Given the description of an element on the screen output the (x, y) to click on. 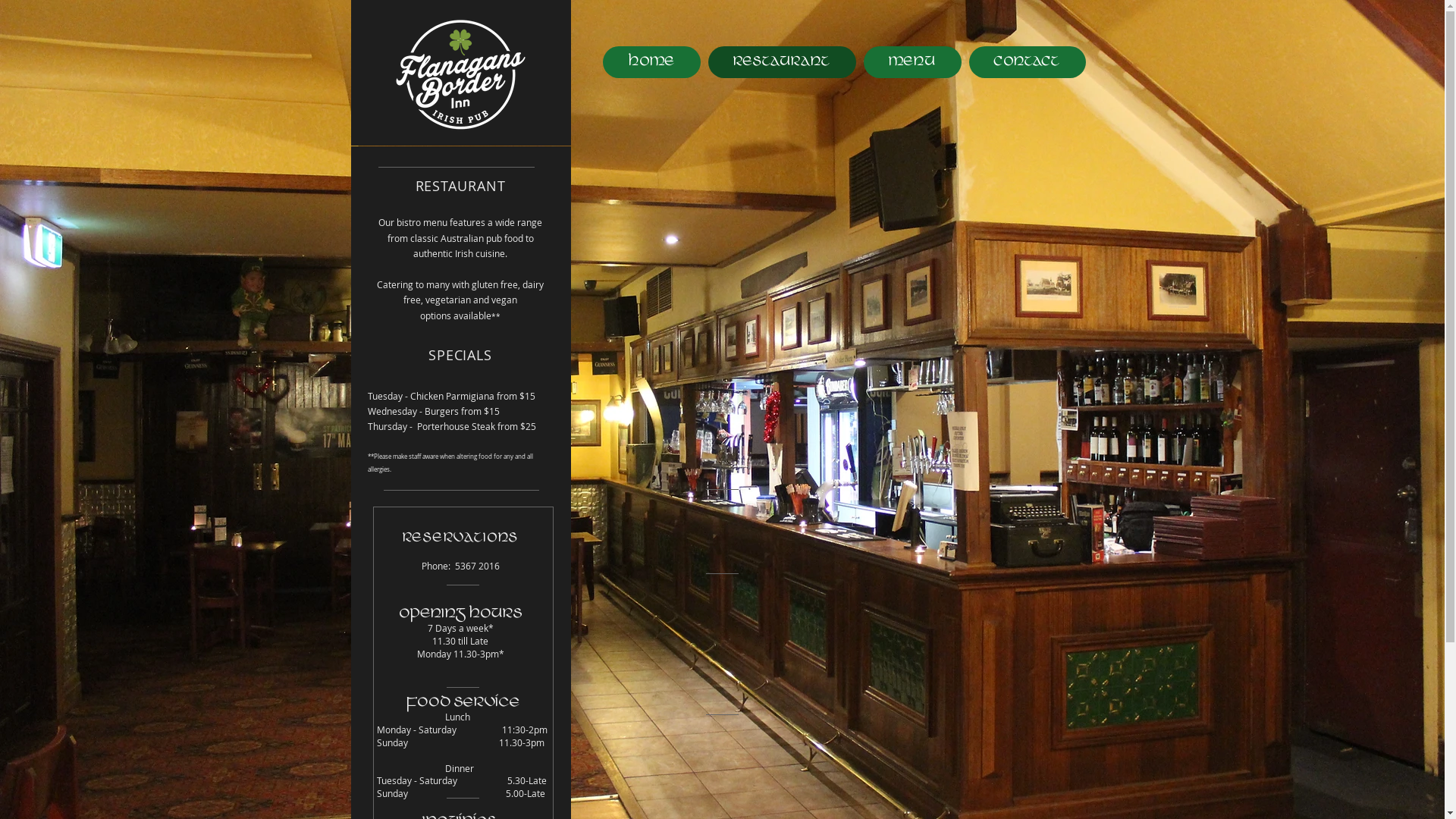
CONTACT Element type: text (1027, 62)
RESTAURANT Element type: text (782, 62)
MENU Element type: text (911, 62)
HOME Element type: text (650, 62)
